Given the description of an element on the screen output the (x, y) to click on. 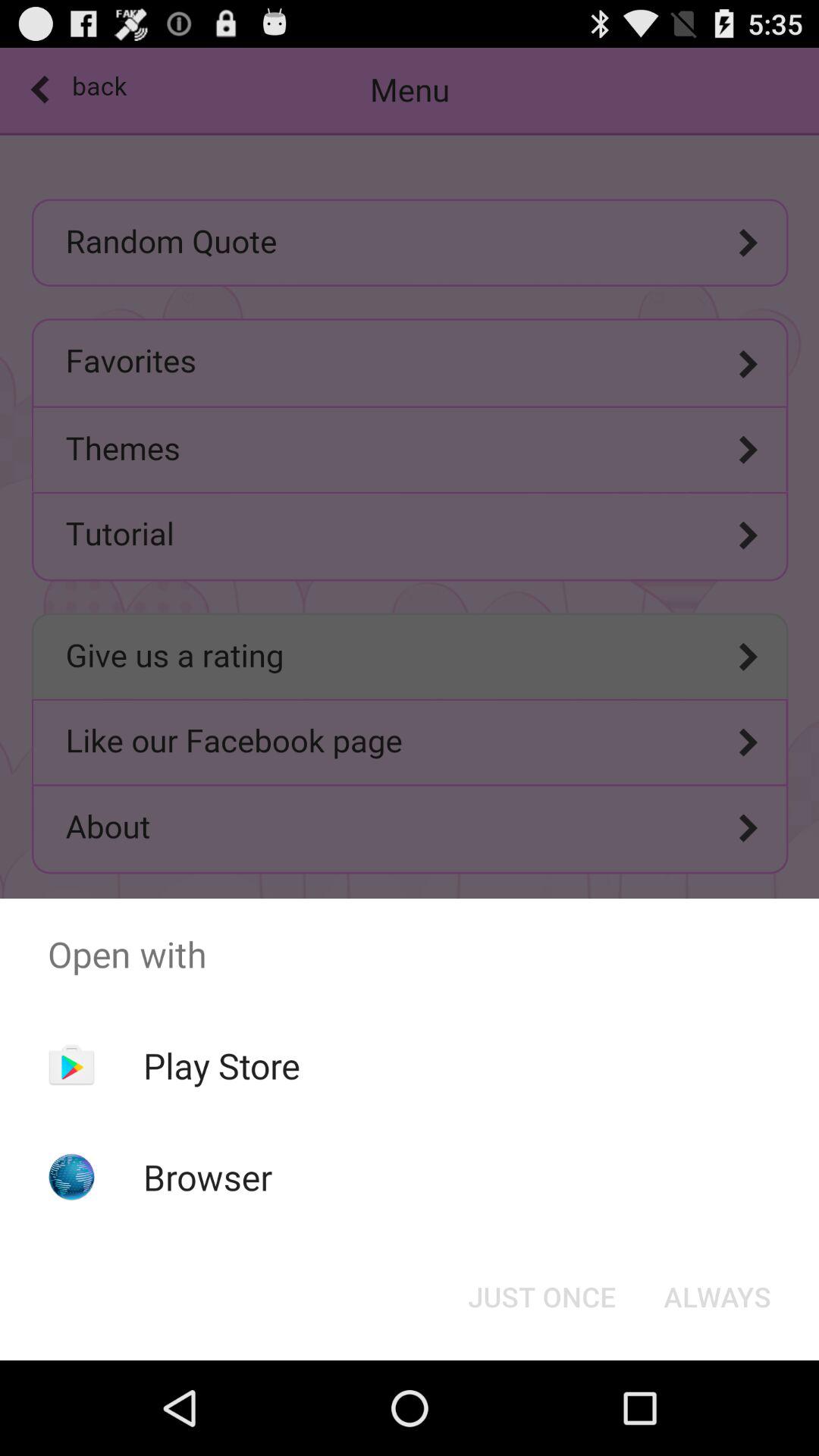
choose app below open with item (717, 1296)
